Given the description of an element on the screen output the (x, y) to click on. 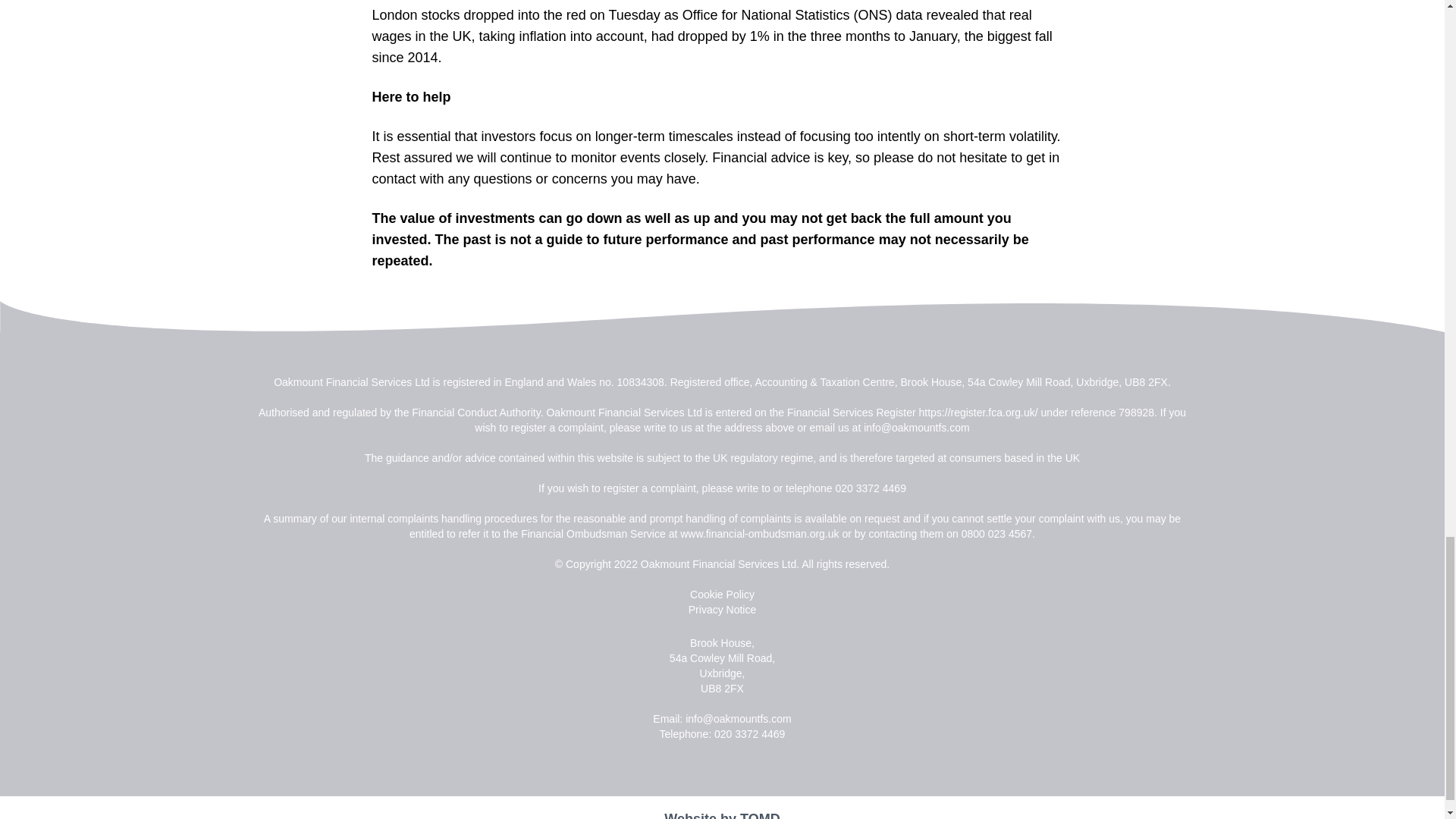
020 3372 4469 (870, 488)
